Given the description of an element on the screen output the (x, y) to click on. 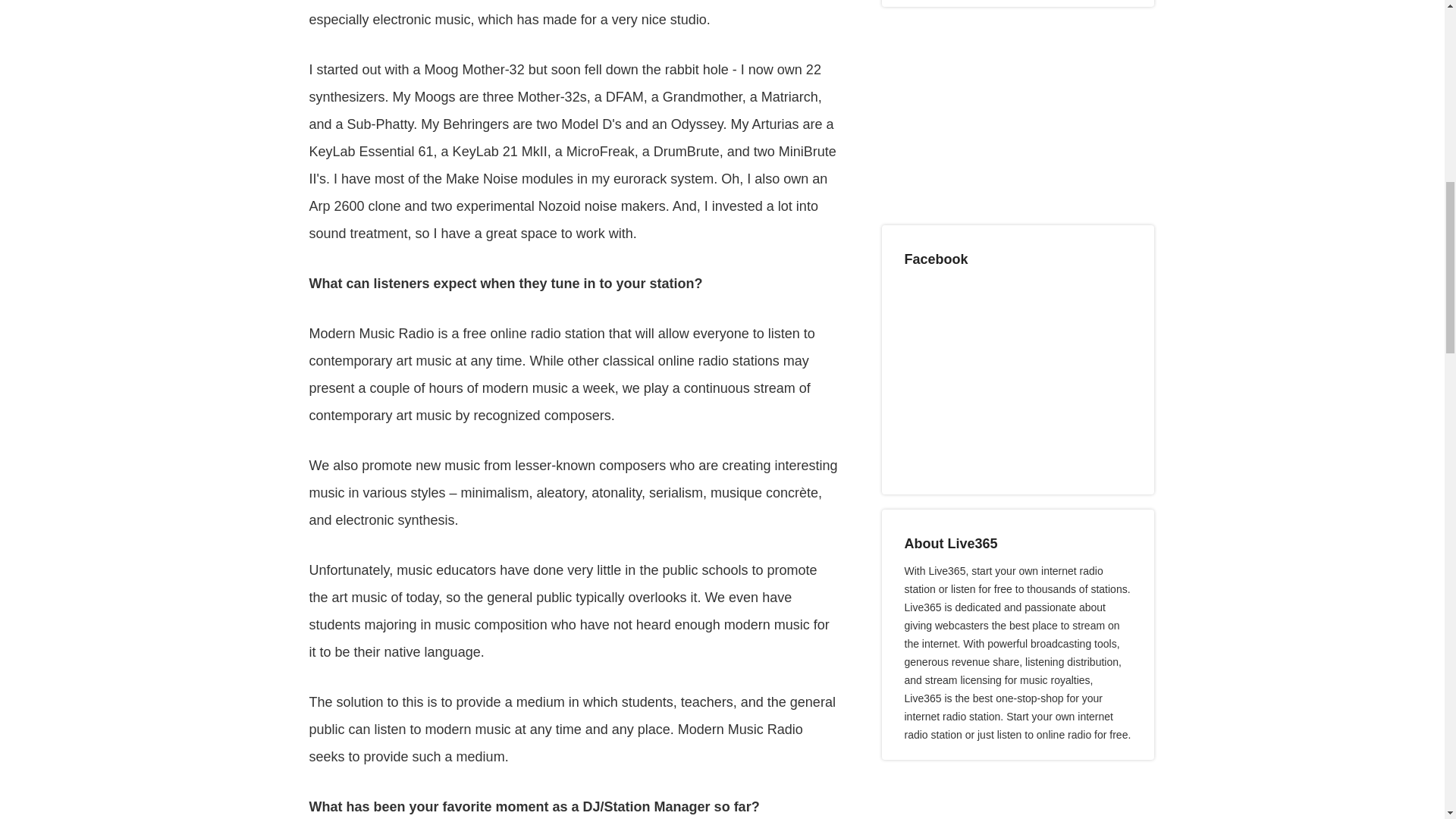
3rd party ad content (994, 116)
